Given the description of an element on the screen output the (x, y) to click on. 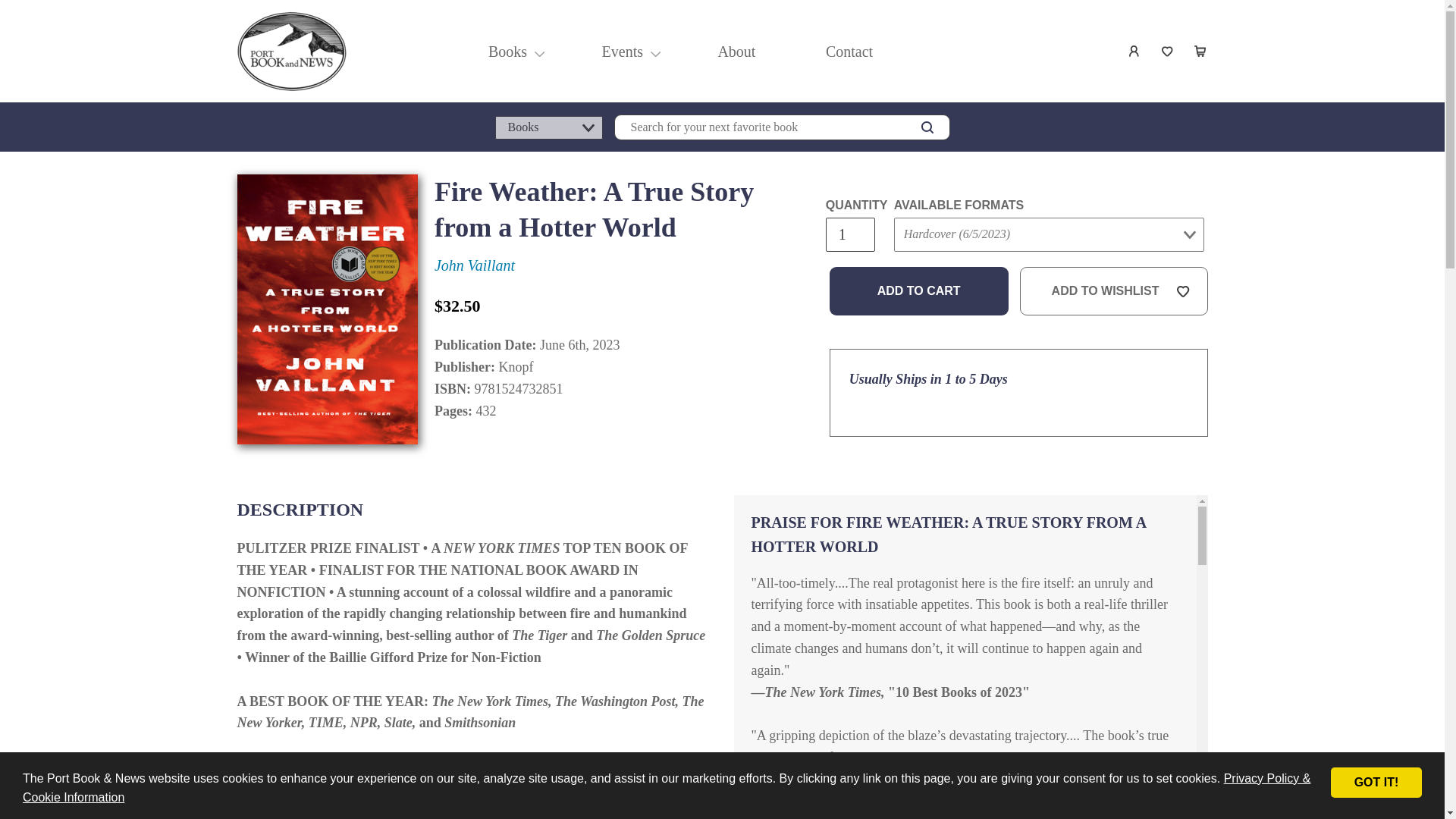
Log in (1134, 51)
Wishlist (1168, 51)
SEARCH (926, 127)
John Vaillant (474, 265)
Events (622, 51)
Log in (1134, 51)
ADD TO WISHLIST (1114, 290)
Add to cart (919, 290)
Cart (1201, 51)
Add to cart (919, 290)
Cart (1201, 51)
Contact (848, 51)
1 (850, 234)
Wishlists (1168, 51)
